Given the description of an element on the screen output the (x, y) to click on. 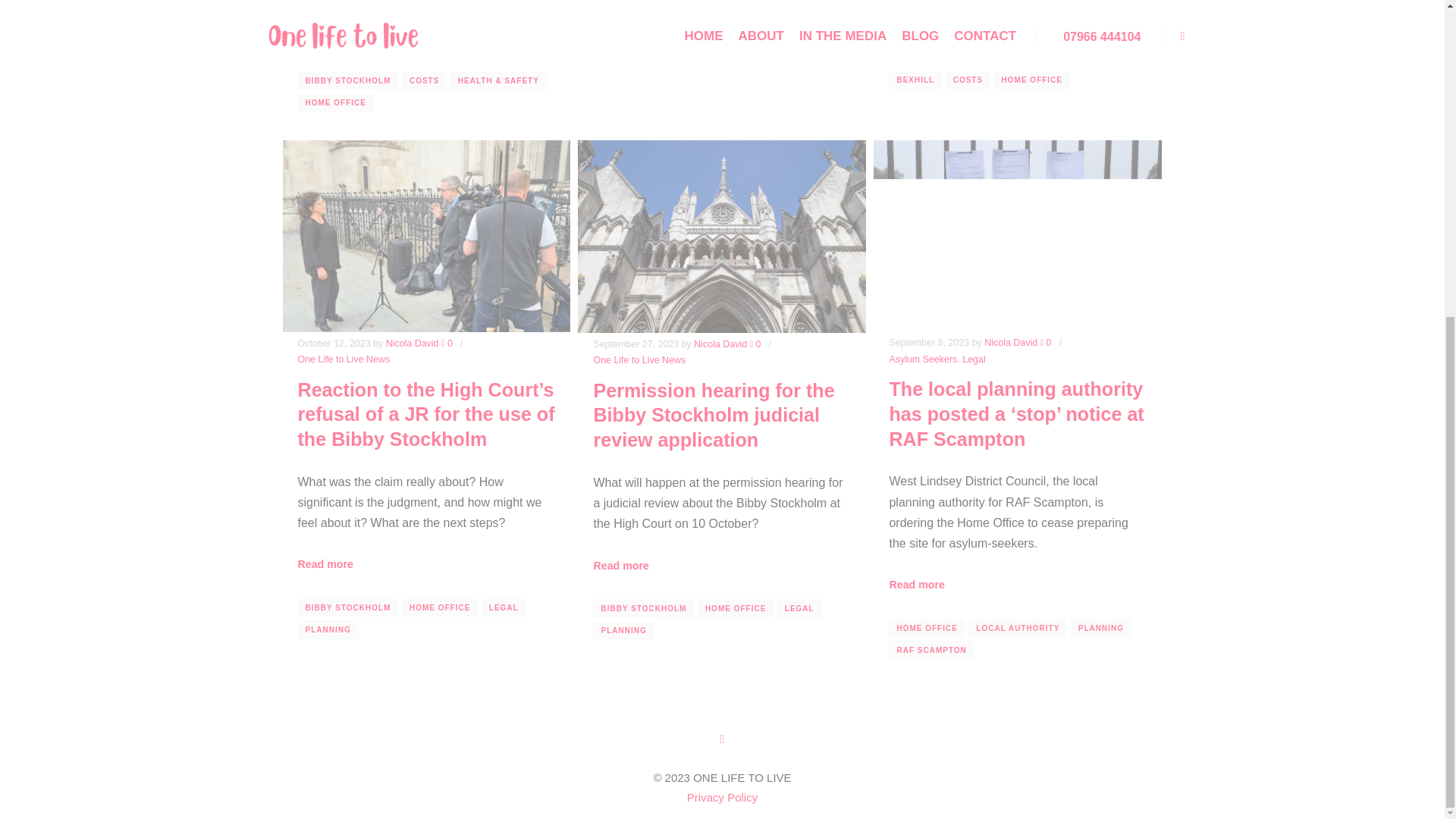
HOME OFFICE (1032, 79)
View all posts by Nicola David (412, 343)
View all posts by Nicola David (720, 344)
COSTS (967, 79)
BEXHILL (619, 55)
BEXHILL (915, 79)
COSTS (671, 55)
Twitter (722, 739)
HOME OFFICE (736, 55)
Read more (325, 37)
COSTS (423, 79)
View all posts by Nicola David (1010, 342)
BIBBY STOCKHOLM (347, 79)
Read more (916, 37)
HOME OFFICE (334, 102)
